Given the description of an element on the screen output the (x, y) to click on. 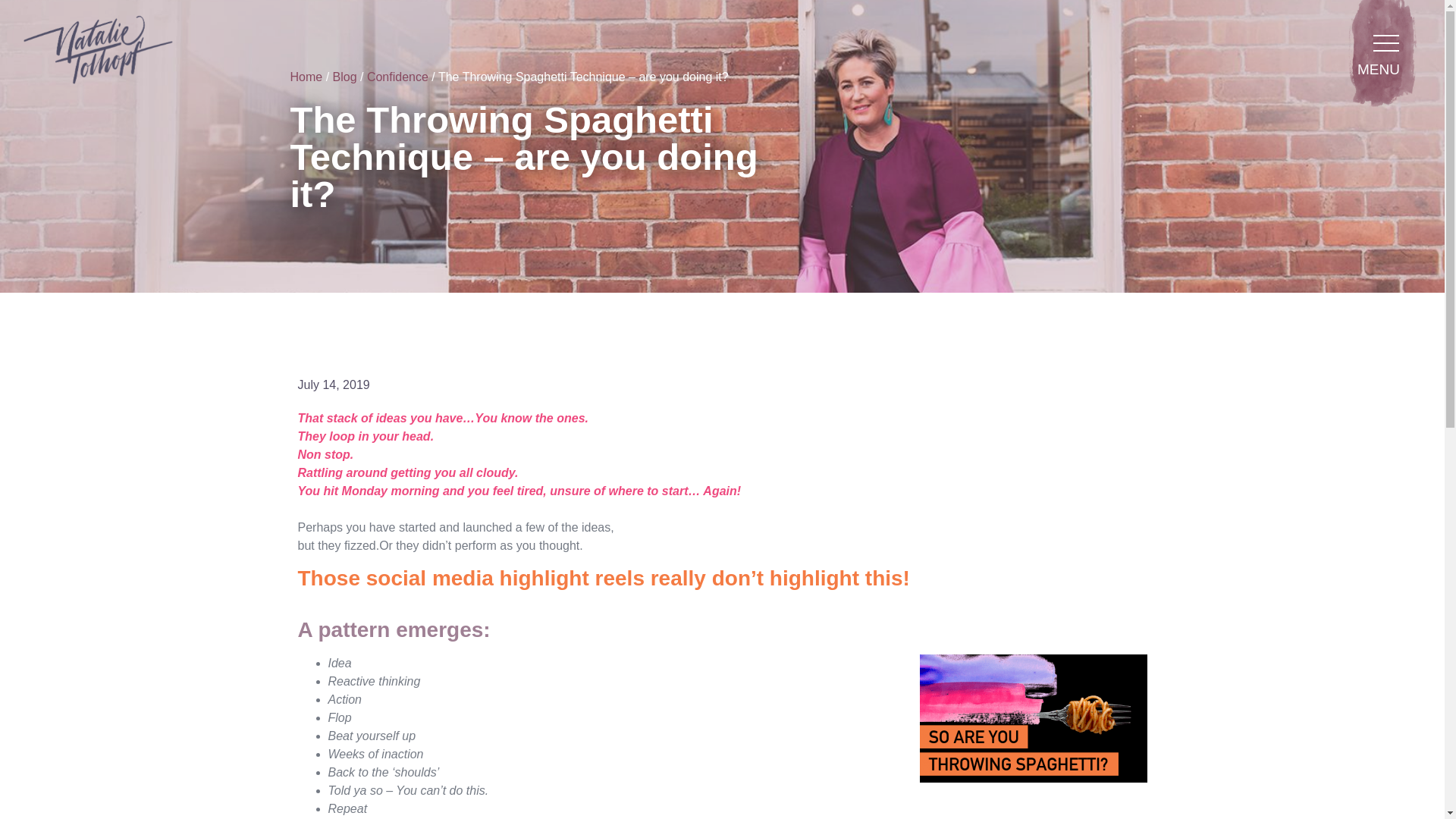
Home (305, 76)
Blog (344, 76)
July 14, 2019 (333, 384)
Confidence (397, 76)
